Given the description of an element on the screen output the (x, y) to click on. 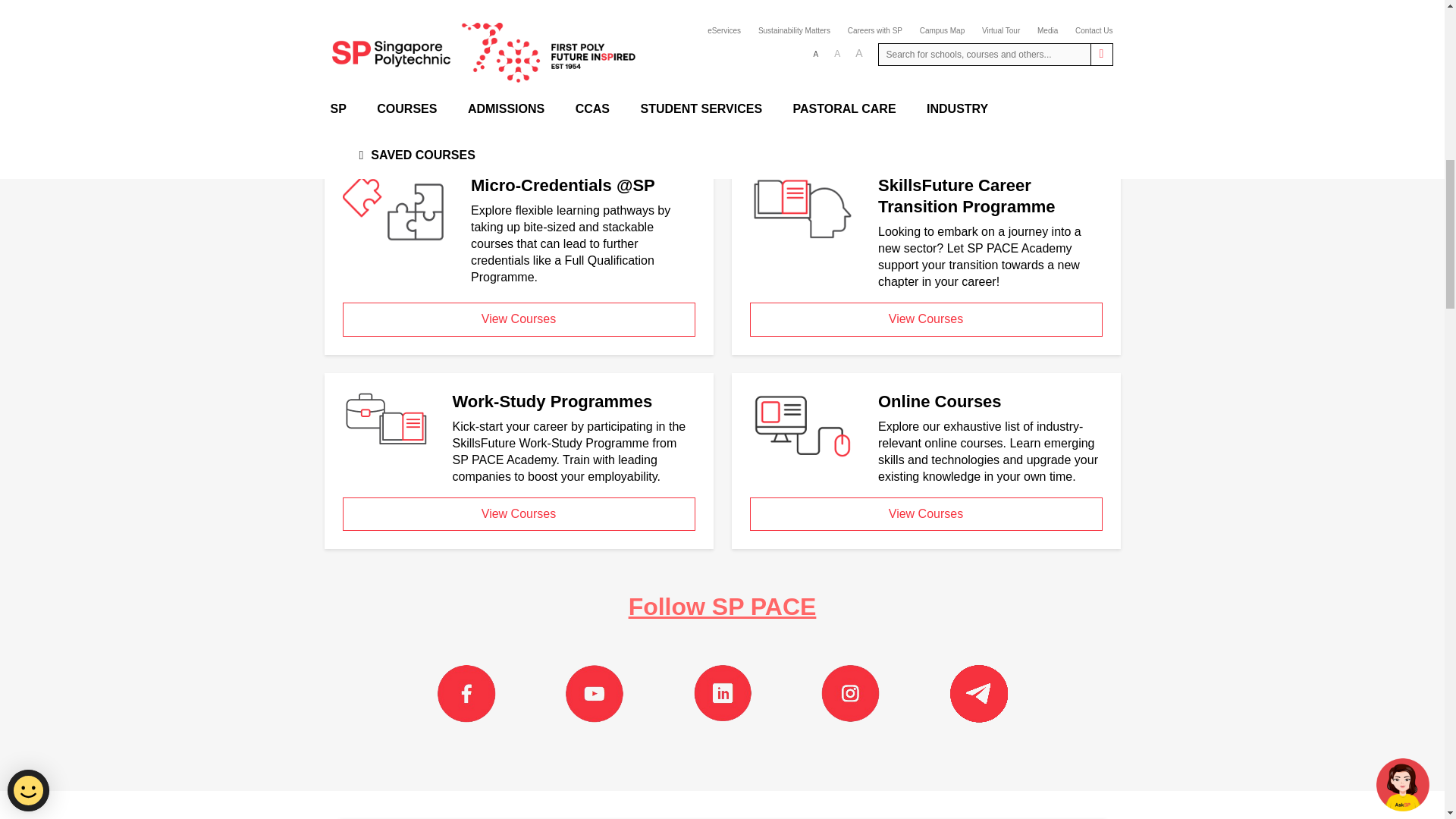
TG Icon (978, 693)
FB Icon (465, 694)
IG Icon (849, 693)
LI Icon (721, 693)
YT Icon (594, 693)
